Given the description of an element on the screen output the (x, y) to click on. 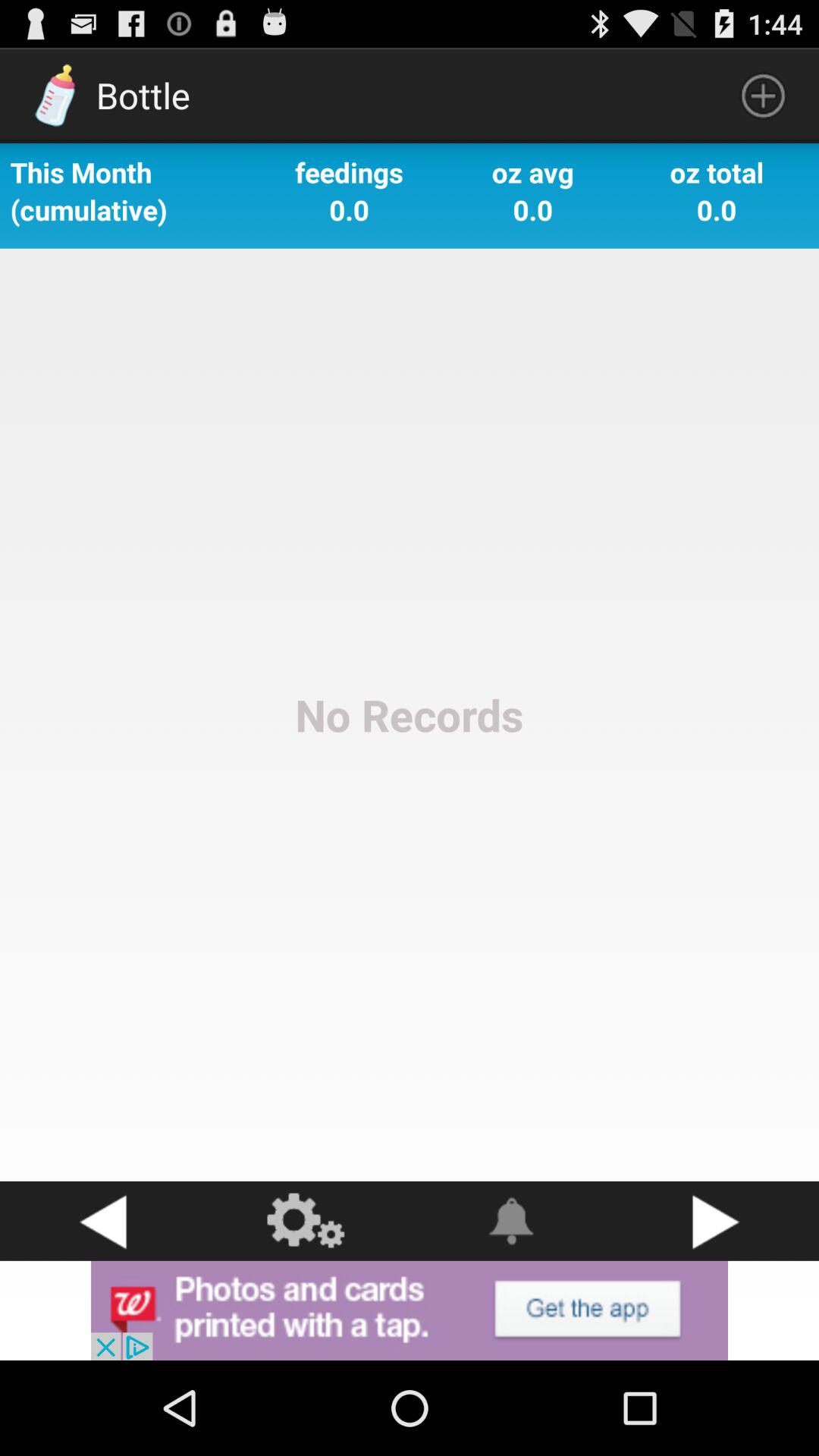
swtich autoplay option (511, 1220)
